Given the description of an element on the screen output the (x, y) to click on. 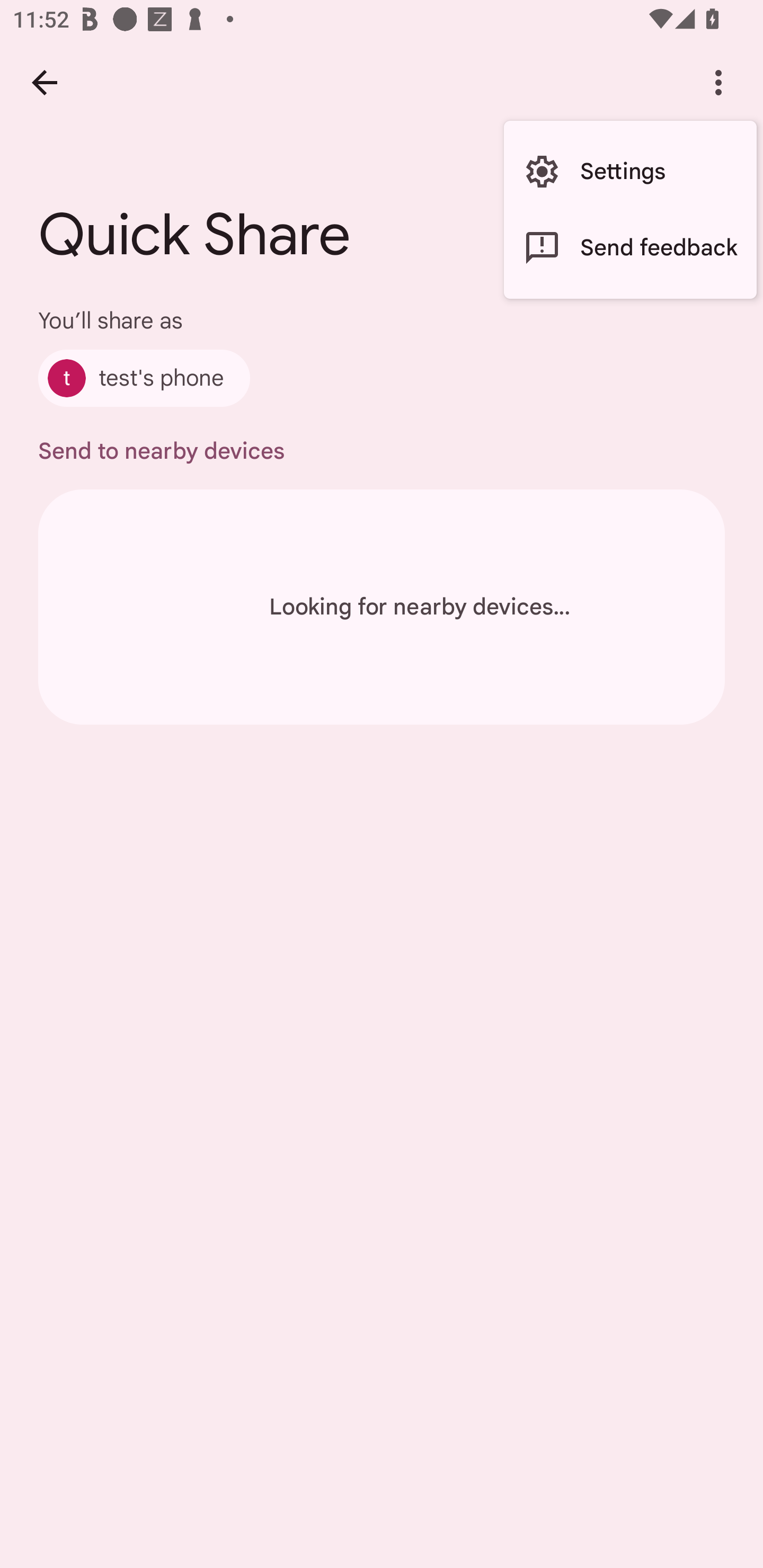
Settings (629, 171)
Send feedback (629, 247)
